Given the description of an element on the screen output the (x, y) to click on. 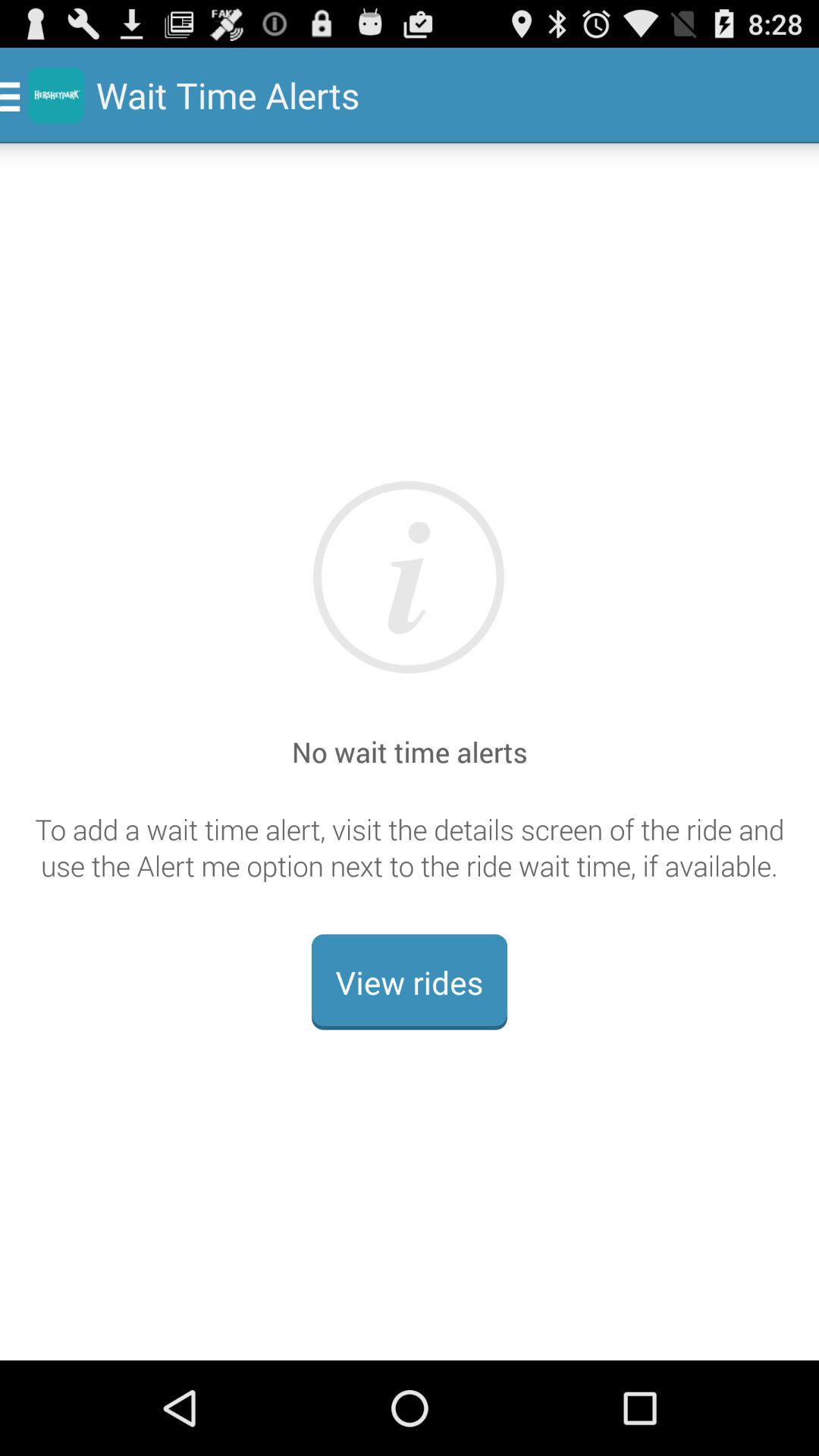
click the icon at the bottom (409, 982)
